Given the description of an element on the screen output the (x, y) to click on. 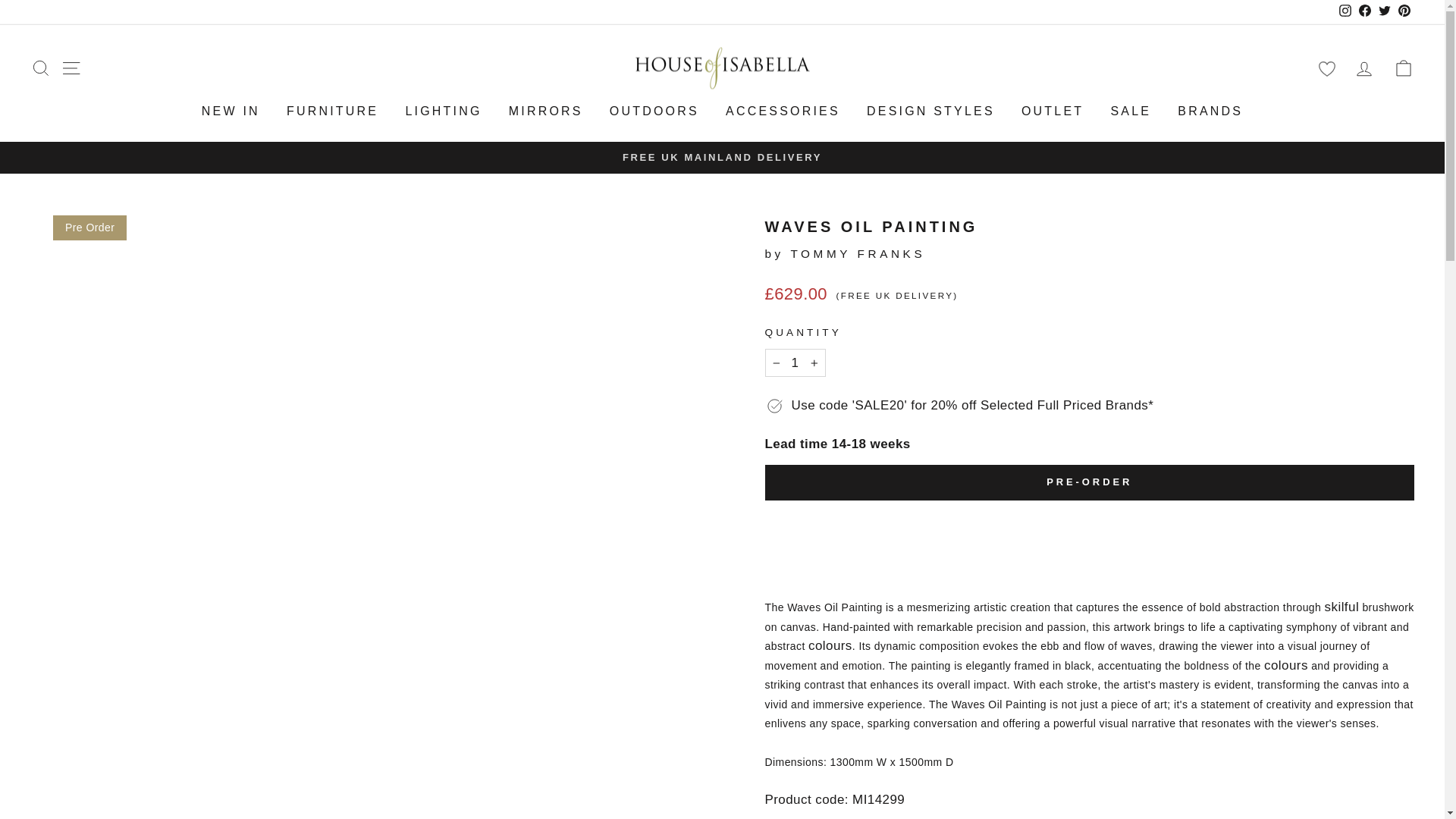
1 (794, 362)
wishlist (1325, 68)
